Given the description of an element on the screen output the (x, y) to click on. 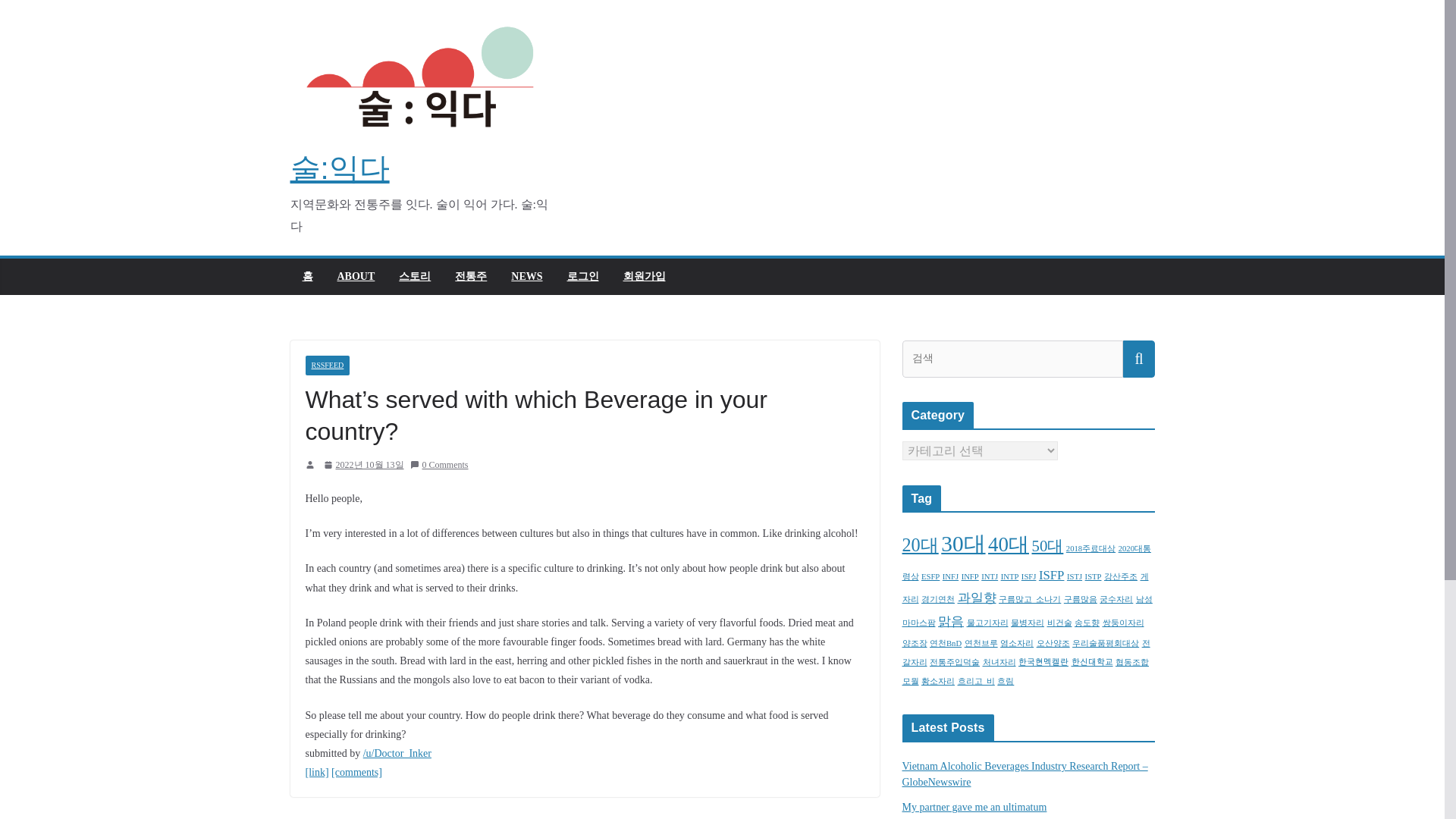
NEWS (526, 276)
ISFP (1051, 575)
ISTJ (1074, 576)
INFP (969, 576)
ESFP (930, 576)
ISFJ (1029, 576)
INTJ (989, 576)
ISTP (1093, 576)
RSSFEED (326, 365)
INFJ (950, 576)
INTP (1010, 576)
0 Comments (438, 464)
ABOUT (355, 276)
